Given the description of an element on the screen output the (x, y) to click on. 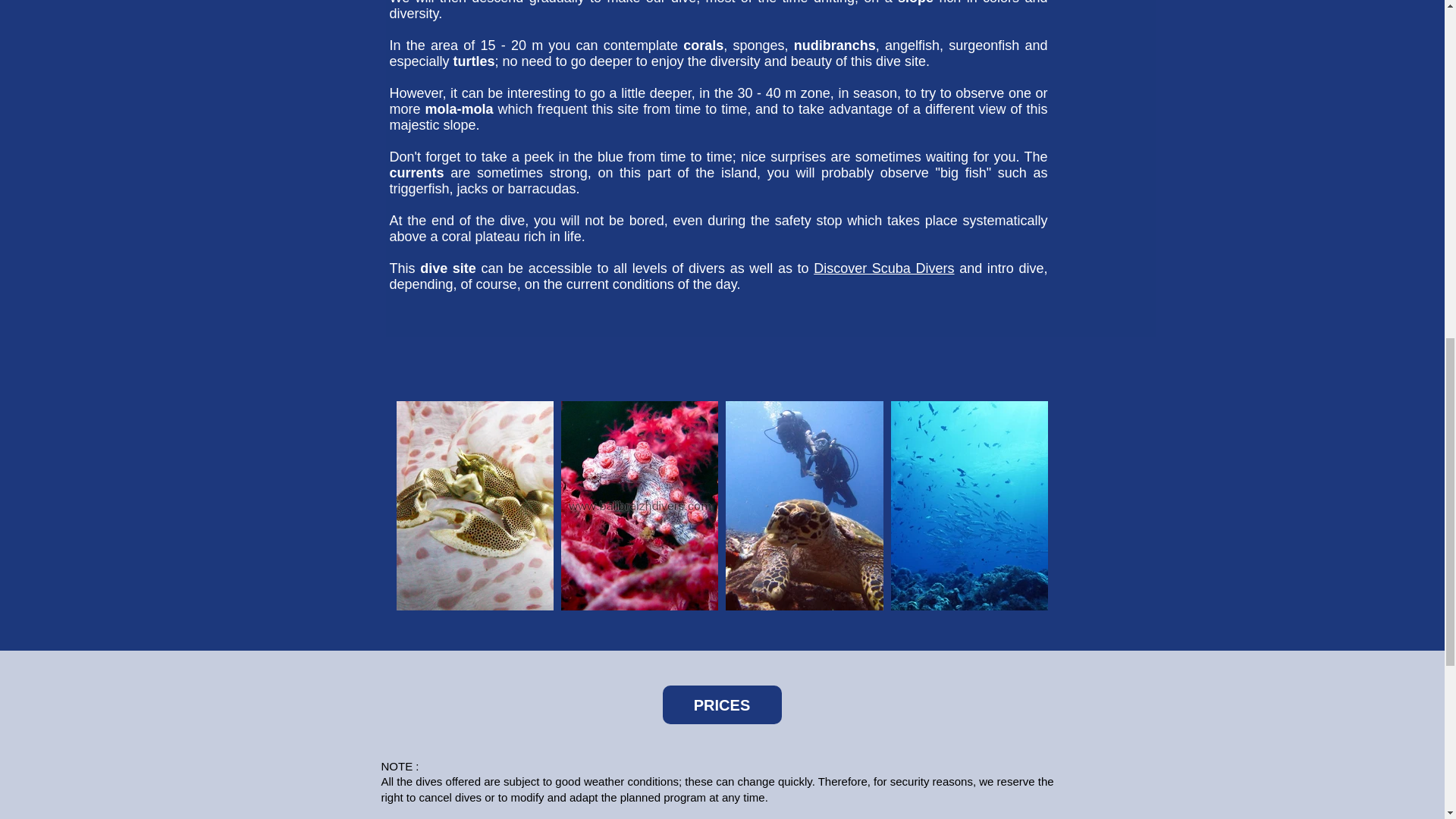
PRICES (721, 704)
Discover Scuba Divers (883, 268)
